Given the description of an element on the screen output the (x, y) to click on. 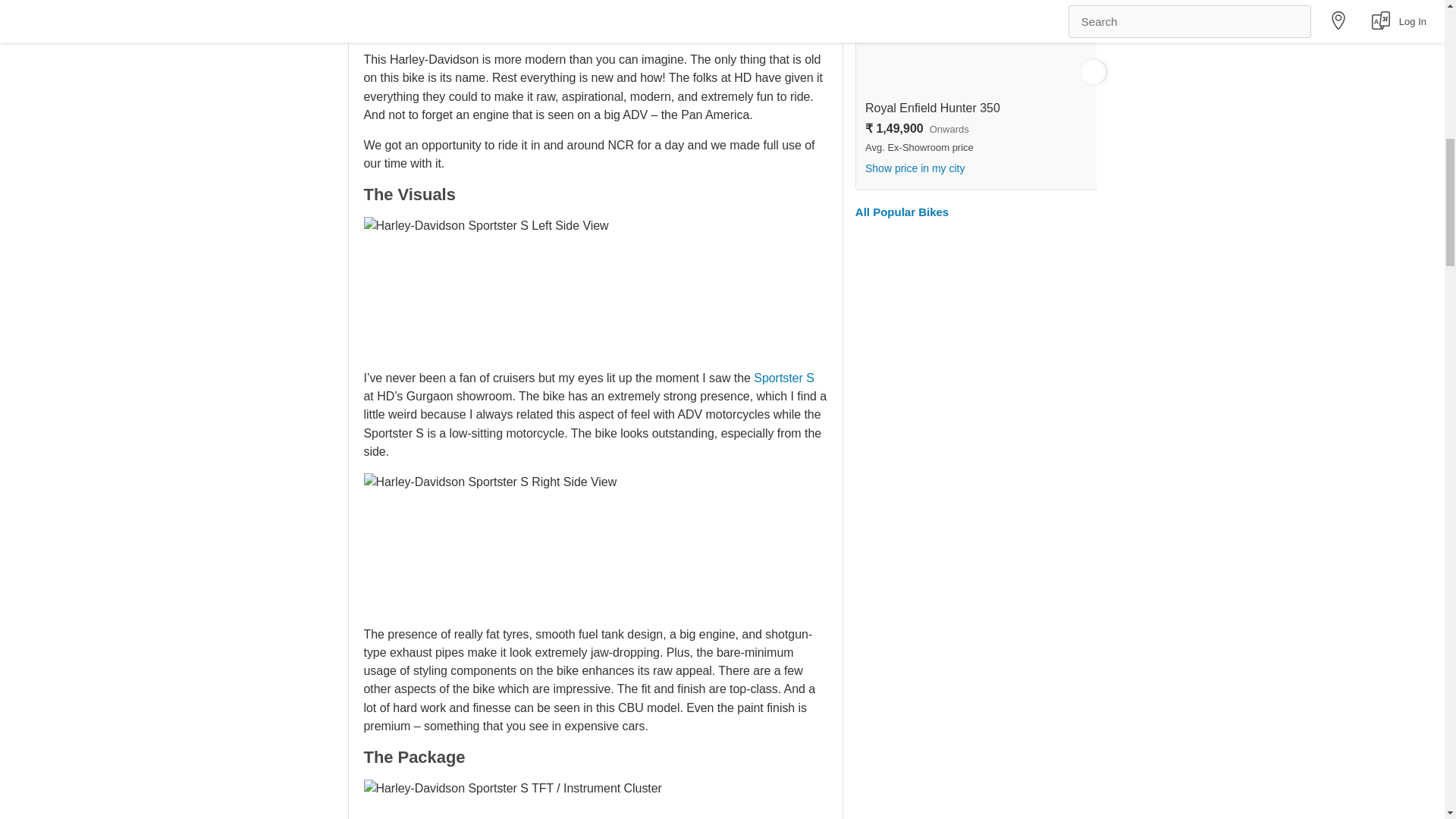
Harley-Davidson Sportster S Right Side View (490, 543)
Sportster S (783, 377)
Sportster S (783, 377)
Harley-Davidson Sportster S Left Side View (486, 287)
